Given the description of an element on the screen output the (x, y) to click on. 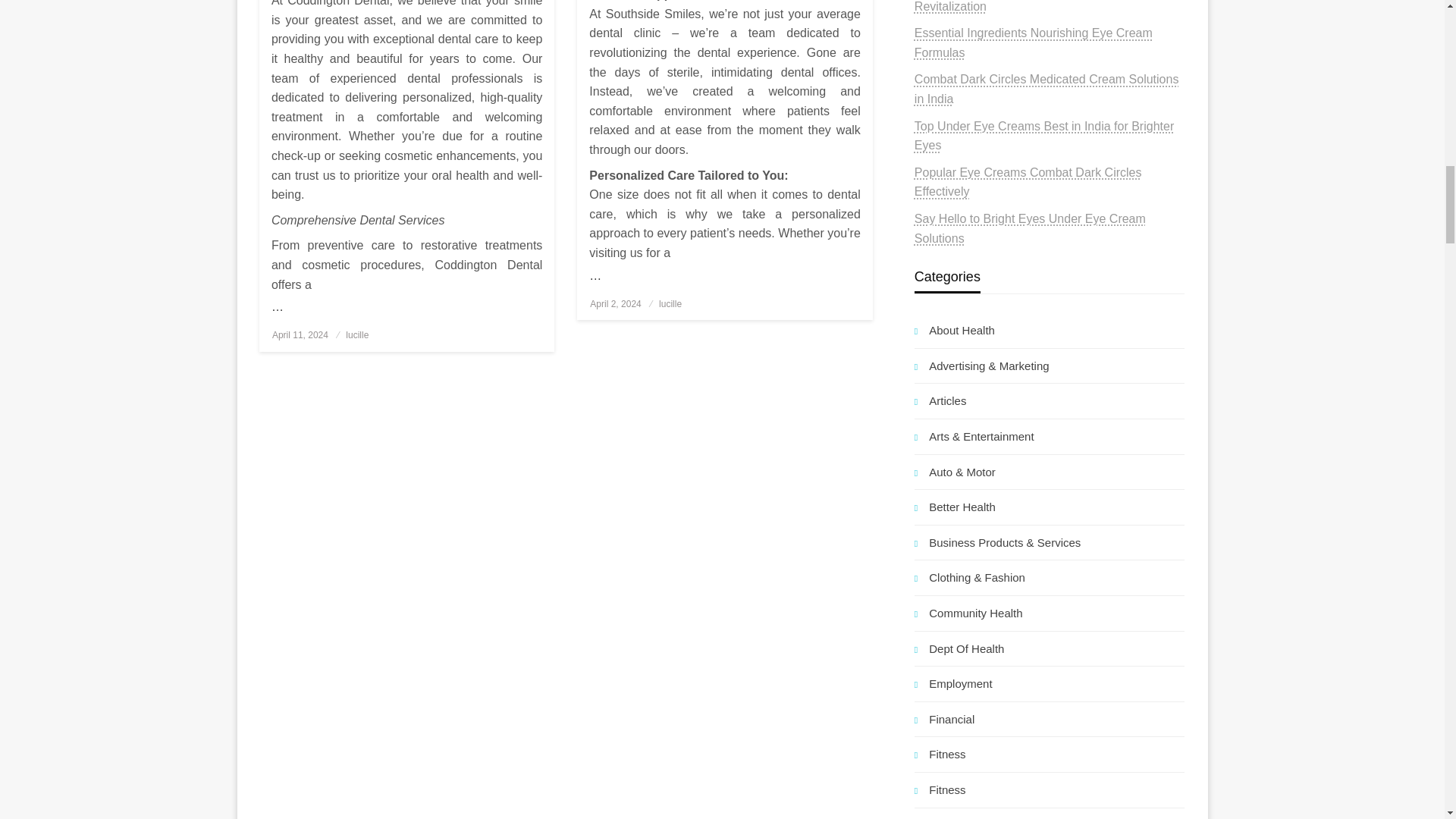
lucille (670, 303)
lucille (357, 335)
